Given the description of an element on the screen output the (x, y) to click on. 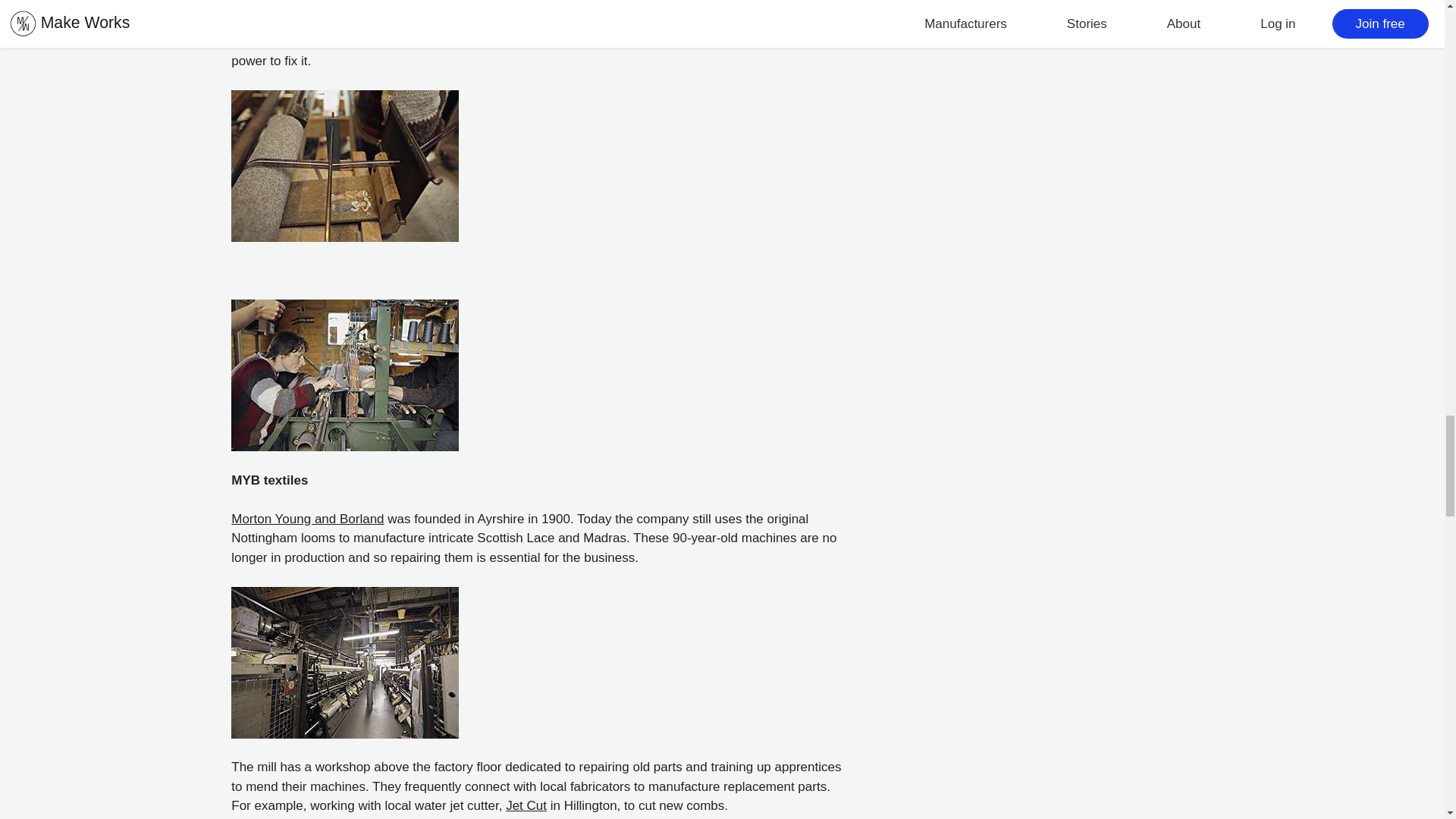
Morton Young and Borland (307, 518)
Jet Cut (526, 805)
